Given the description of an element on the screen output the (x, y) to click on. 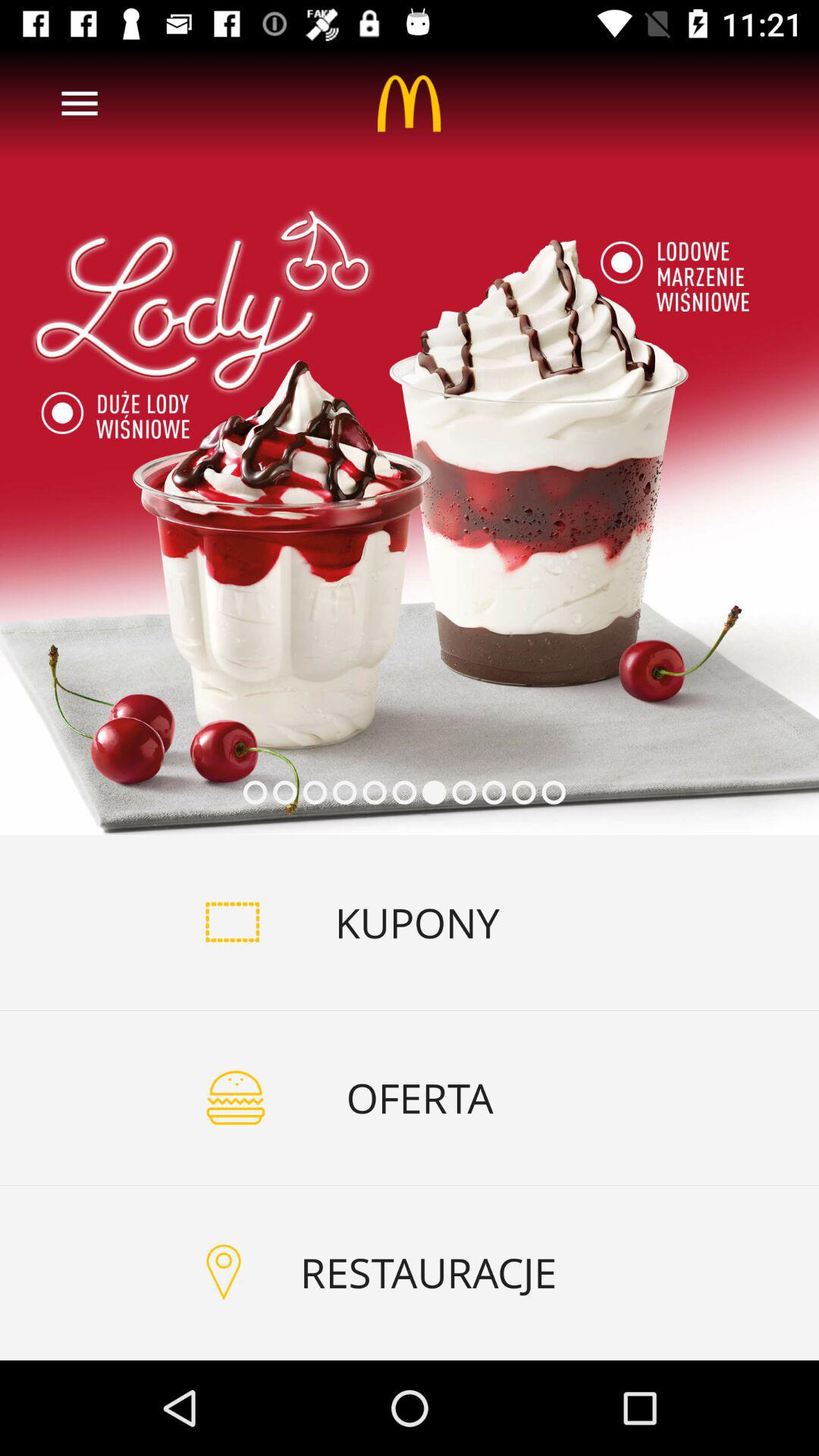
press item at the top left corner (79, 103)
